Given the description of an element on the screen output the (x, y) to click on. 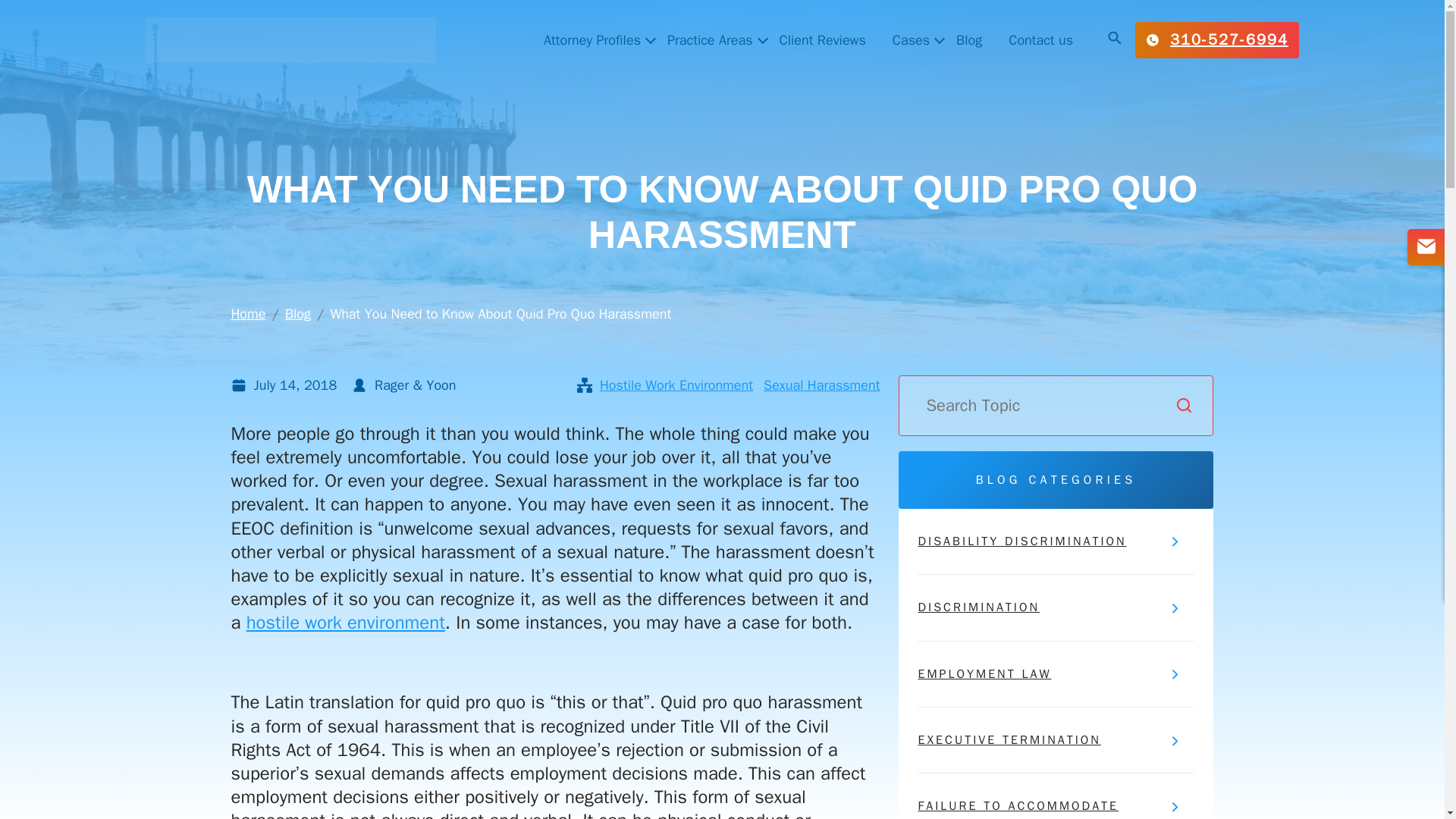
Cases (911, 39)
Attorney Profiles (591, 39)
hostile work environment (345, 621)
Search: (1055, 405)
logo (290, 40)
Client Reviews (822, 39)
Practice Areas (709, 39)
Blog (969, 39)
Contact us (1040, 39)
